Given the description of an element on the screen output the (x, y) to click on. 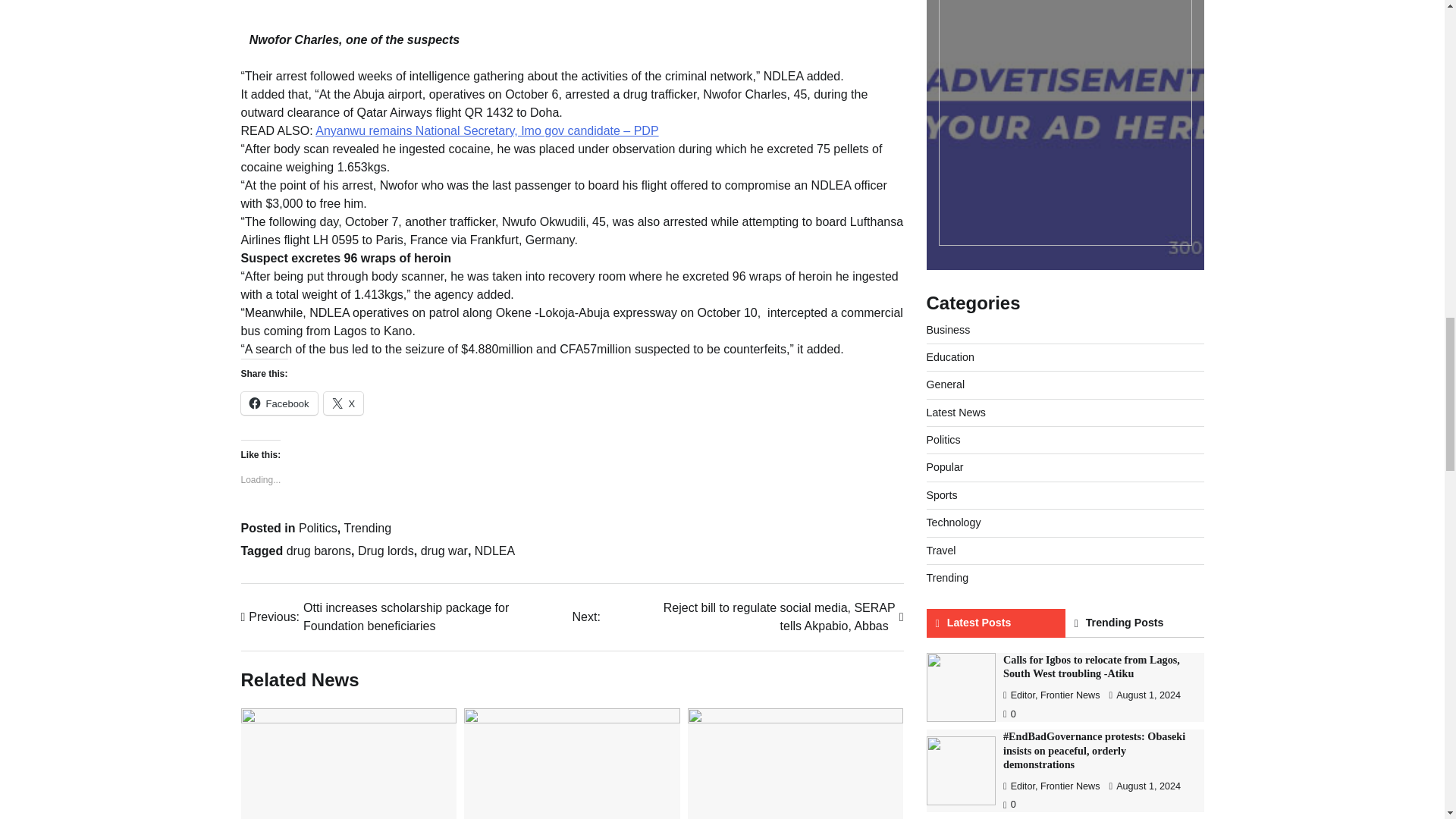
Trending (367, 527)
X (343, 403)
Click to share on X (343, 403)
Drug lords (385, 550)
Politics (317, 527)
drug war (443, 550)
NDLEA (494, 550)
drug barons (318, 550)
Click to share on Facebook (279, 403)
Facebook (279, 403)
